Given the description of an element on the screen output the (x, y) to click on. 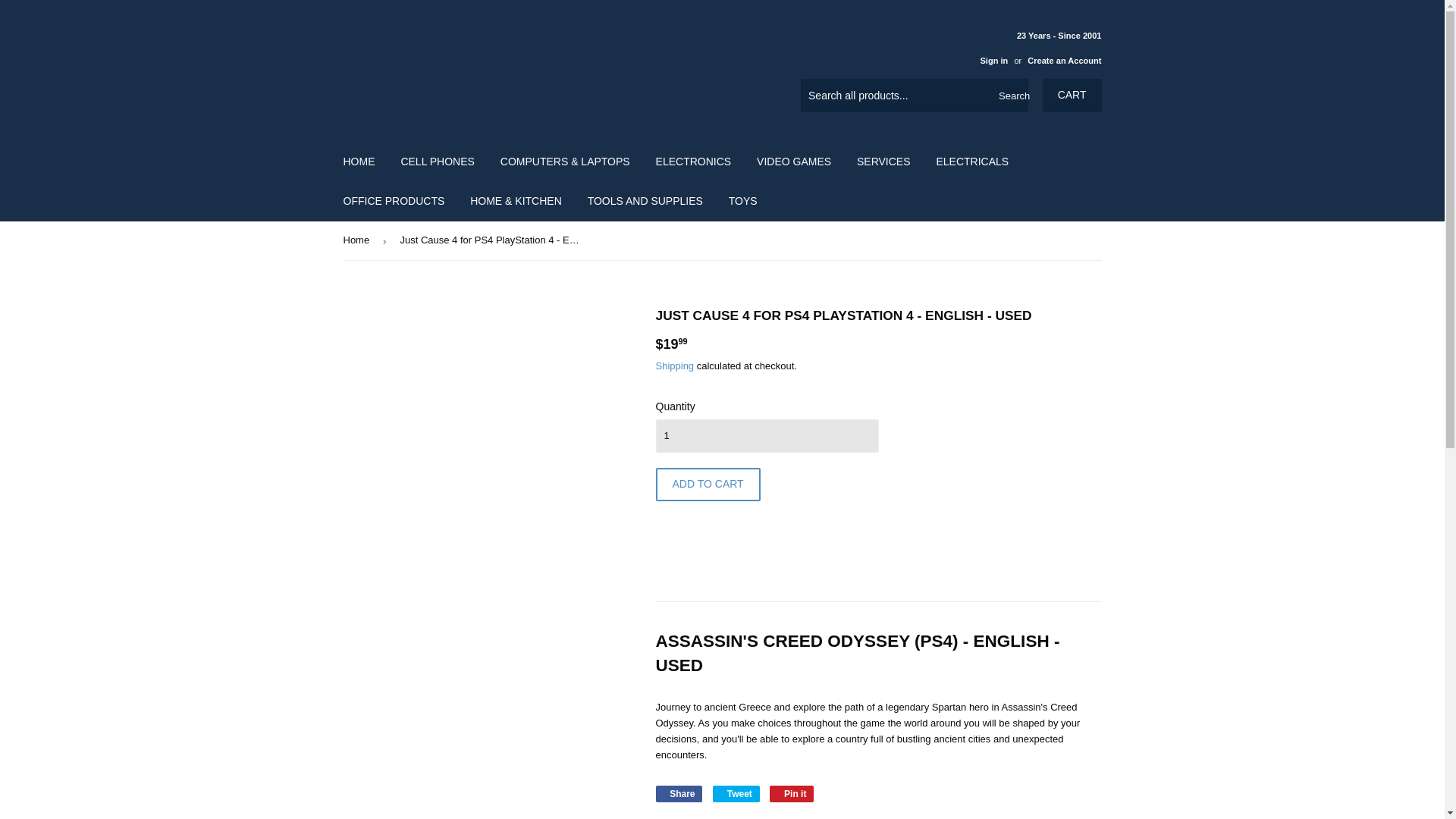
Pin on Pinterest (791, 793)
Sign in (993, 60)
Create an Account (1063, 60)
23 Years - Since 2001 (1034, 47)
Share on Facebook (678, 793)
1 (766, 435)
Search (1010, 96)
CART (1072, 95)
Tweet on Twitter (736, 793)
